Given the description of an element on the screen output the (x, y) to click on. 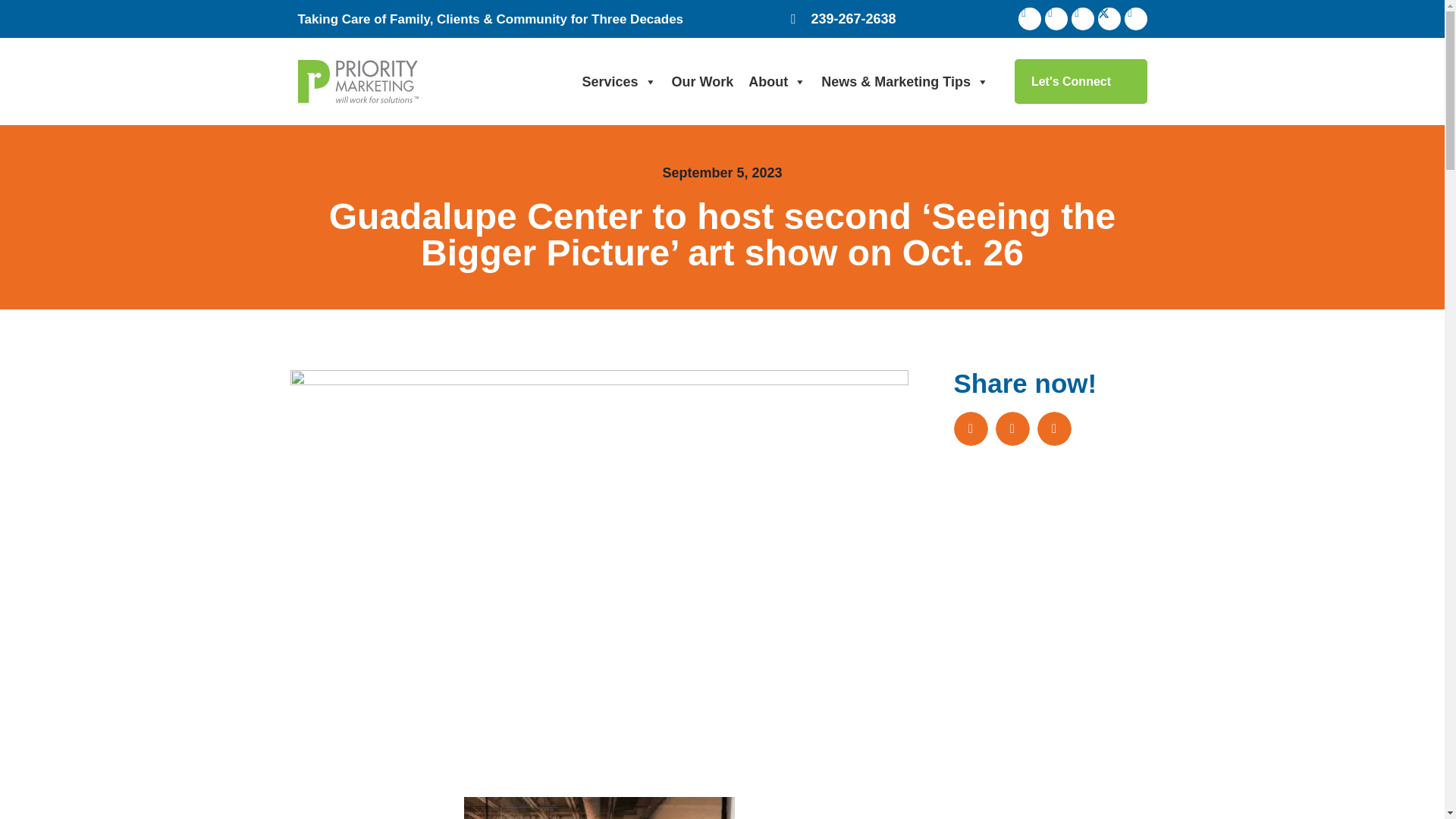
About (777, 81)
Services (619, 81)
239-267-2638 (843, 19)
Our Work (702, 81)
Let's Connect (1080, 81)
